Given the description of an element on the screen output the (x, y) to click on. 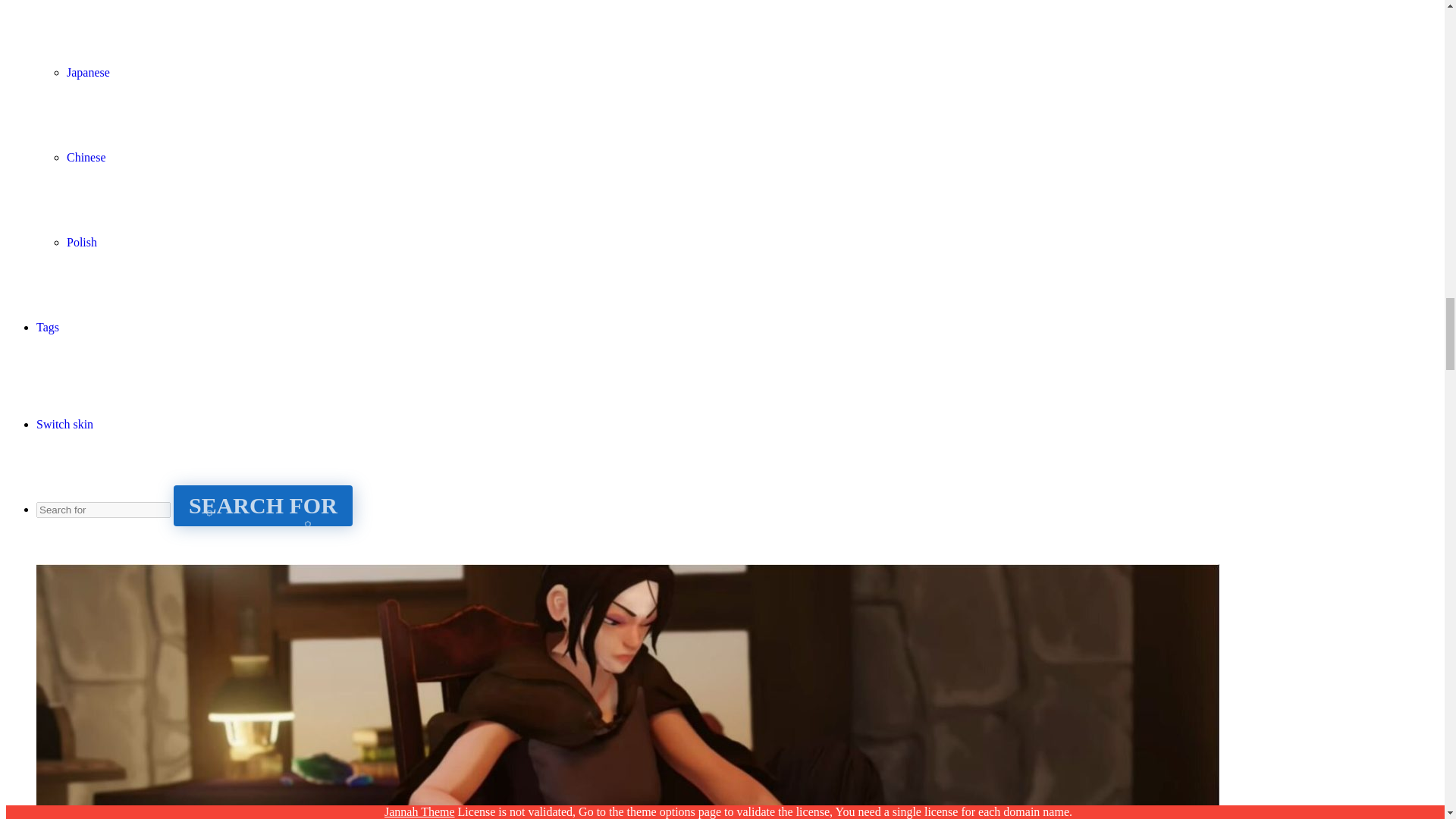
Japanese (88, 72)
Search for (103, 509)
Switch skin (64, 423)
Chinese (86, 156)
